Given the description of an element on the screen output the (x, y) to click on. 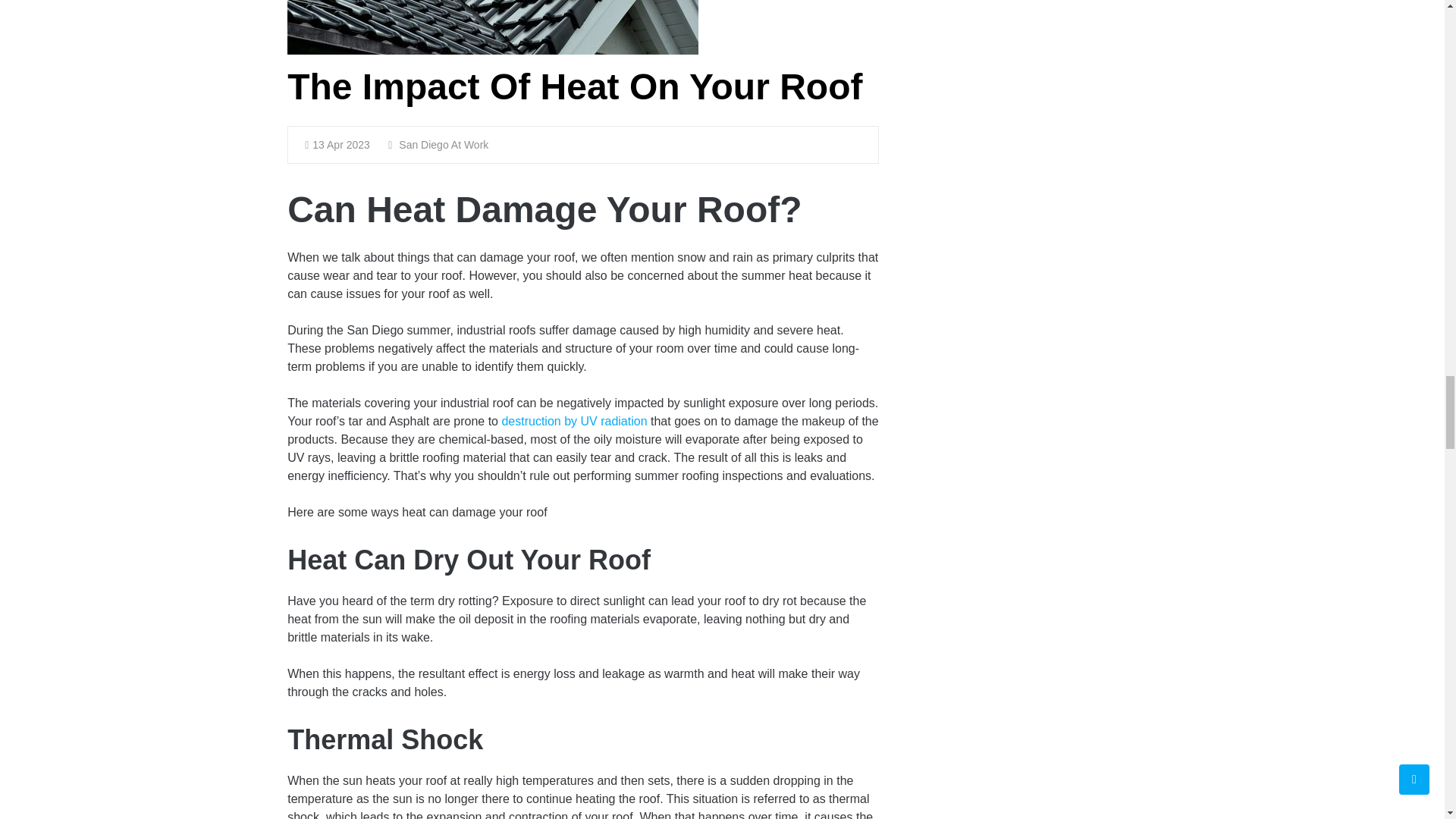
San Diego At Work (437, 144)
destruction by UV radiation (573, 420)
13 Apr 2023 (336, 144)
The Impact Of Heat On Your Roof (573, 86)
